Given the description of an element on the screen output the (x, y) to click on. 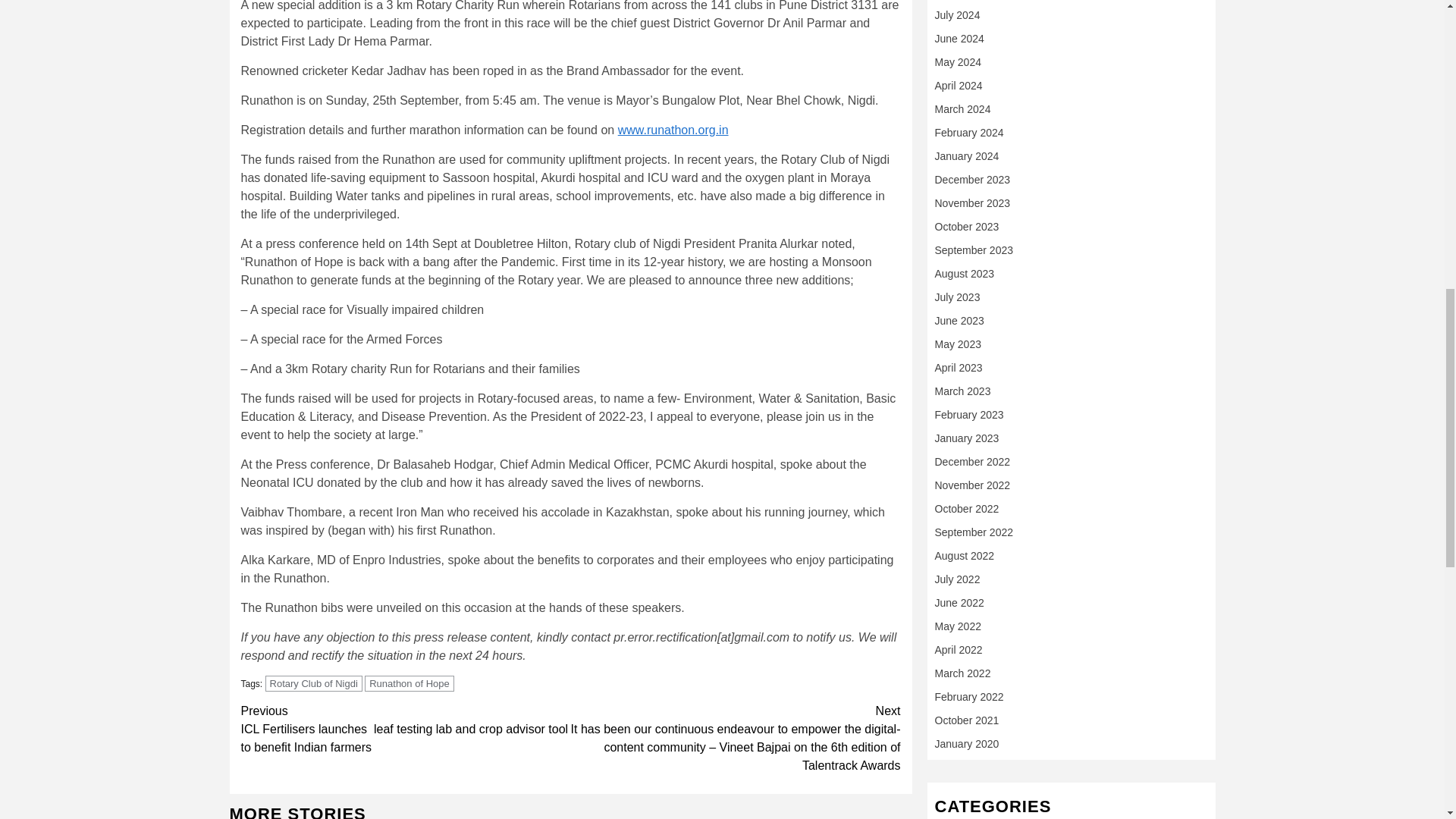
Runathon of Hope (409, 683)
Rotary Club of Nigdi (313, 683)
www.runathon.org.in (673, 129)
